Given the description of an element on the screen output the (x, y) to click on. 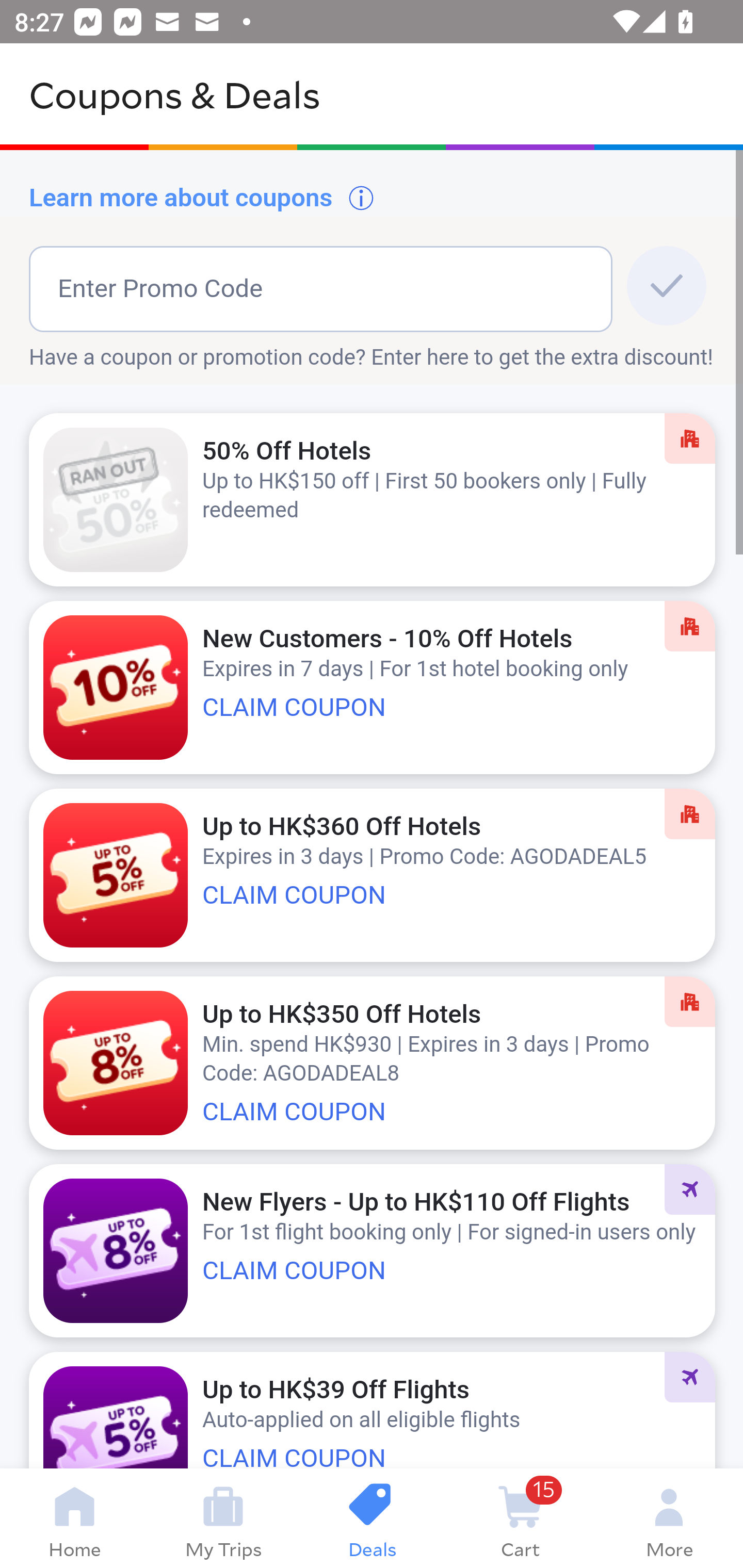
Home (74, 1518)
My Trips (222, 1518)
Deals (371, 1518)
15 Cart (519, 1518)
More (668, 1518)
